Given the description of an element on the screen output the (x, y) to click on. 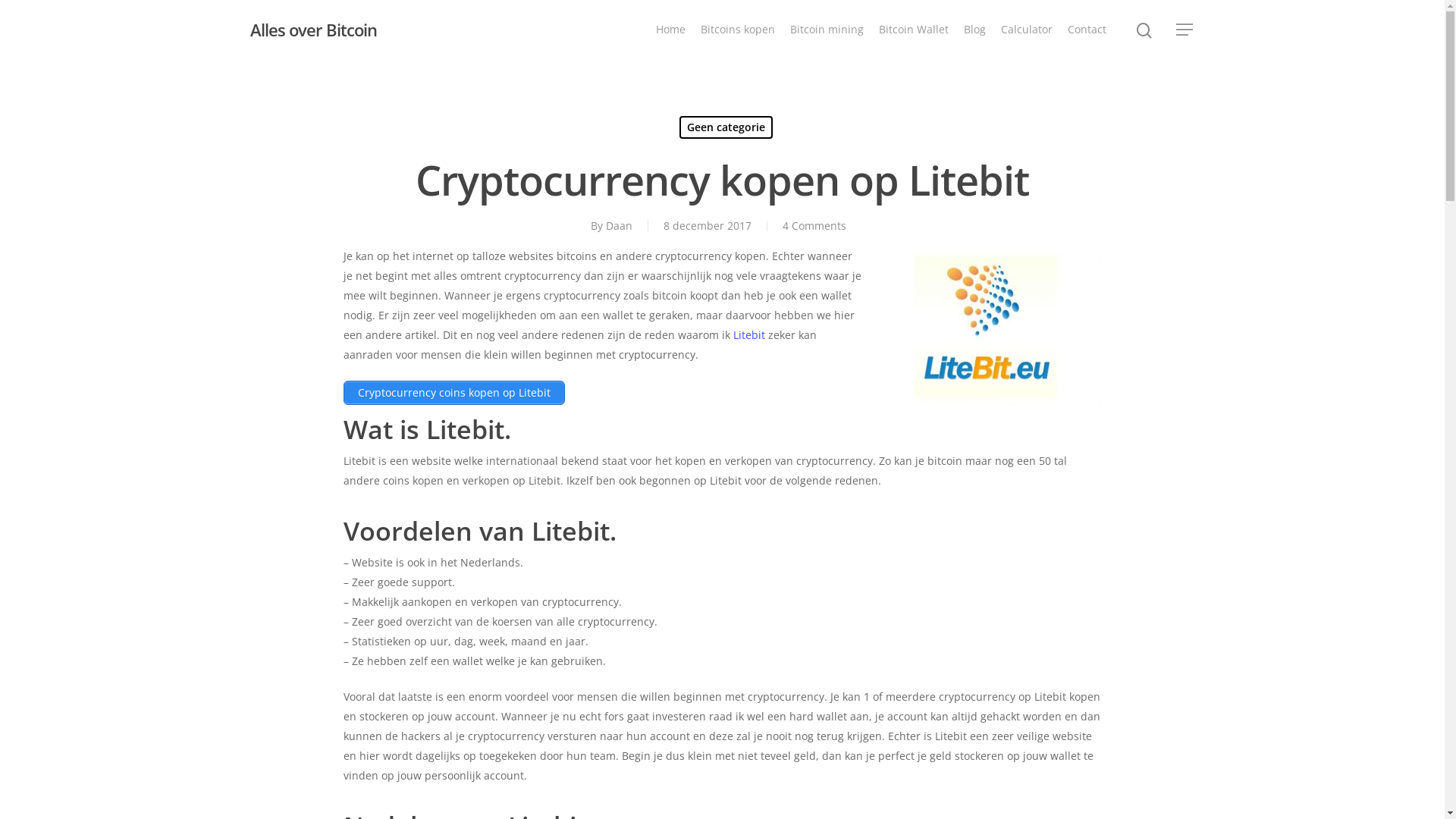
4 Comments Element type: text (814, 225)
Bitcoins kopen Element type: text (737, 29)
Calculator Element type: text (1026, 29)
Cryptocurrency coins kopen op Litebit Element type: text (453, 392)
Daan Element type: text (618, 225)
Bitcoin Wallet Element type: text (913, 29)
Litebit Element type: text (748, 334)
Home Element type: text (670, 29)
Geen categorie Element type: text (725, 127)
Blog Element type: text (974, 29)
Contact Element type: text (1086, 29)
Alles over Bitcoin Element type: text (313, 29)
Bitcoin mining Element type: text (826, 29)
